Given the description of an element on the screen output the (x, y) to click on. 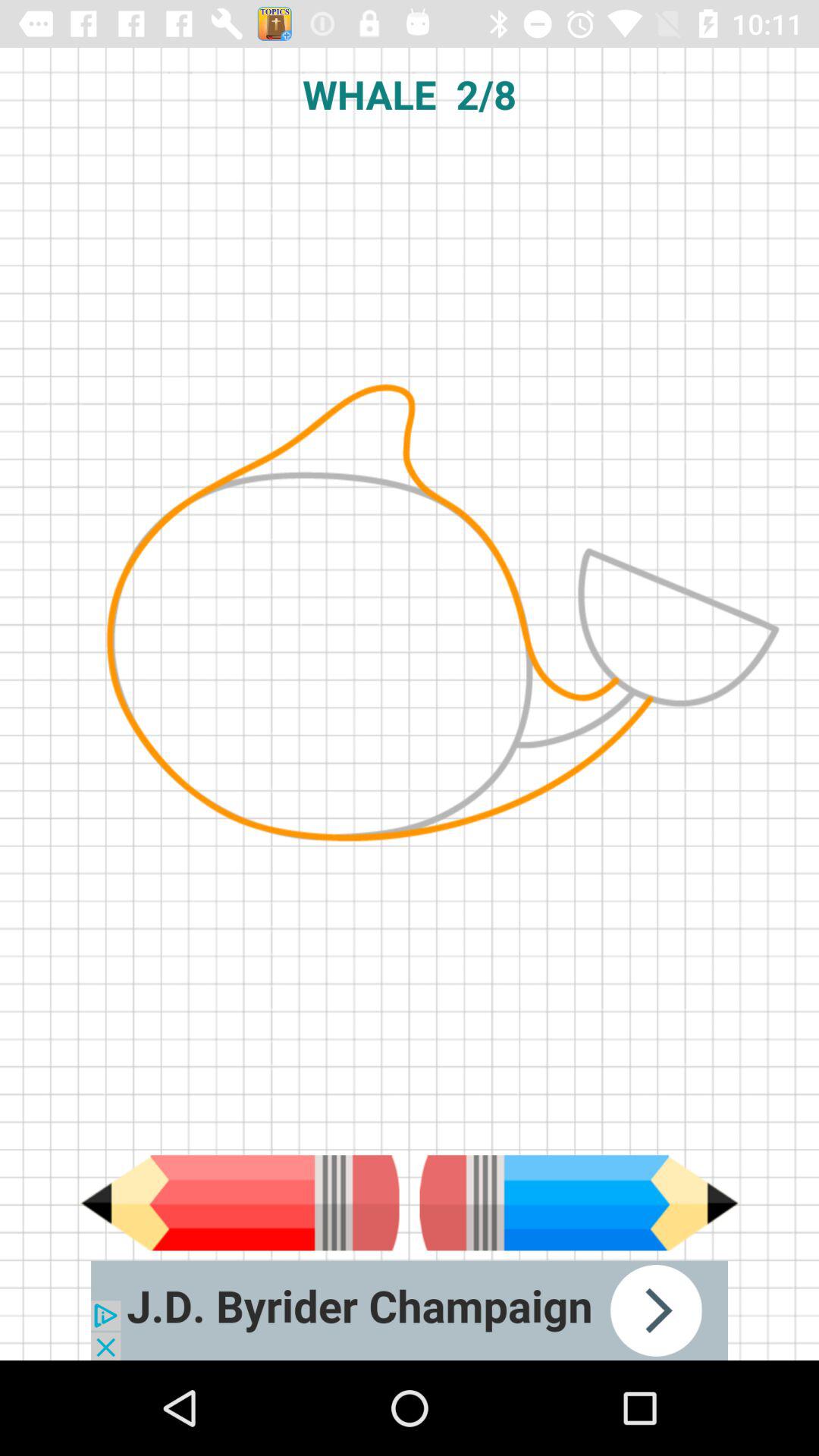
go back (239, 1202)
